Given the description of an element on the screen output the (x, y) to click on. 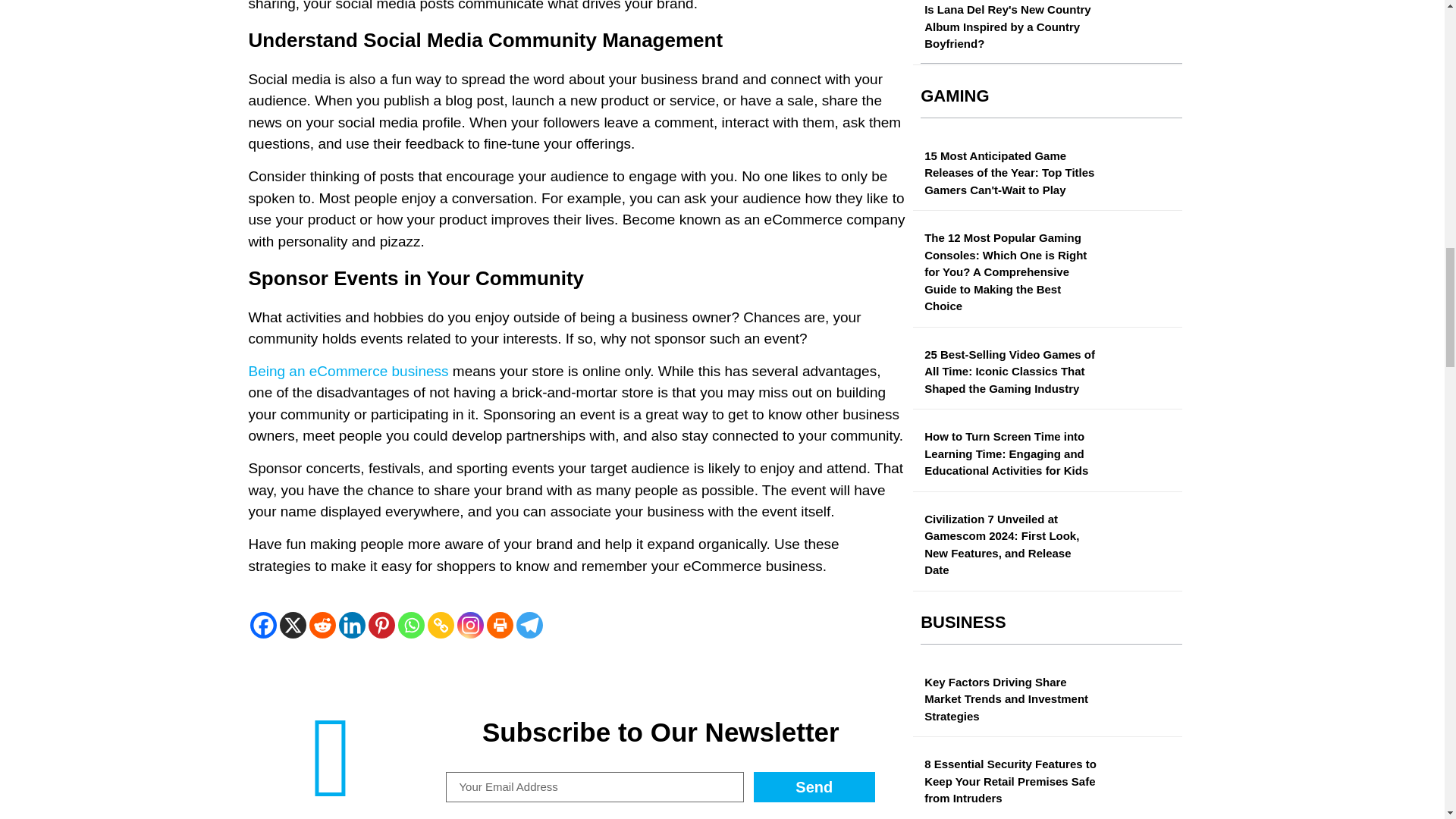
Copy Link (441, 624)
Pinterest (381, 624)
Instagram (470, 624)
Linkedin (351, 624)
Reddit (322, 624)
Whatsapp (410, 624)
X (292, 624)
Facebook (263, 624)
